Given the description of an element on the screen output the (x, y) to click on. 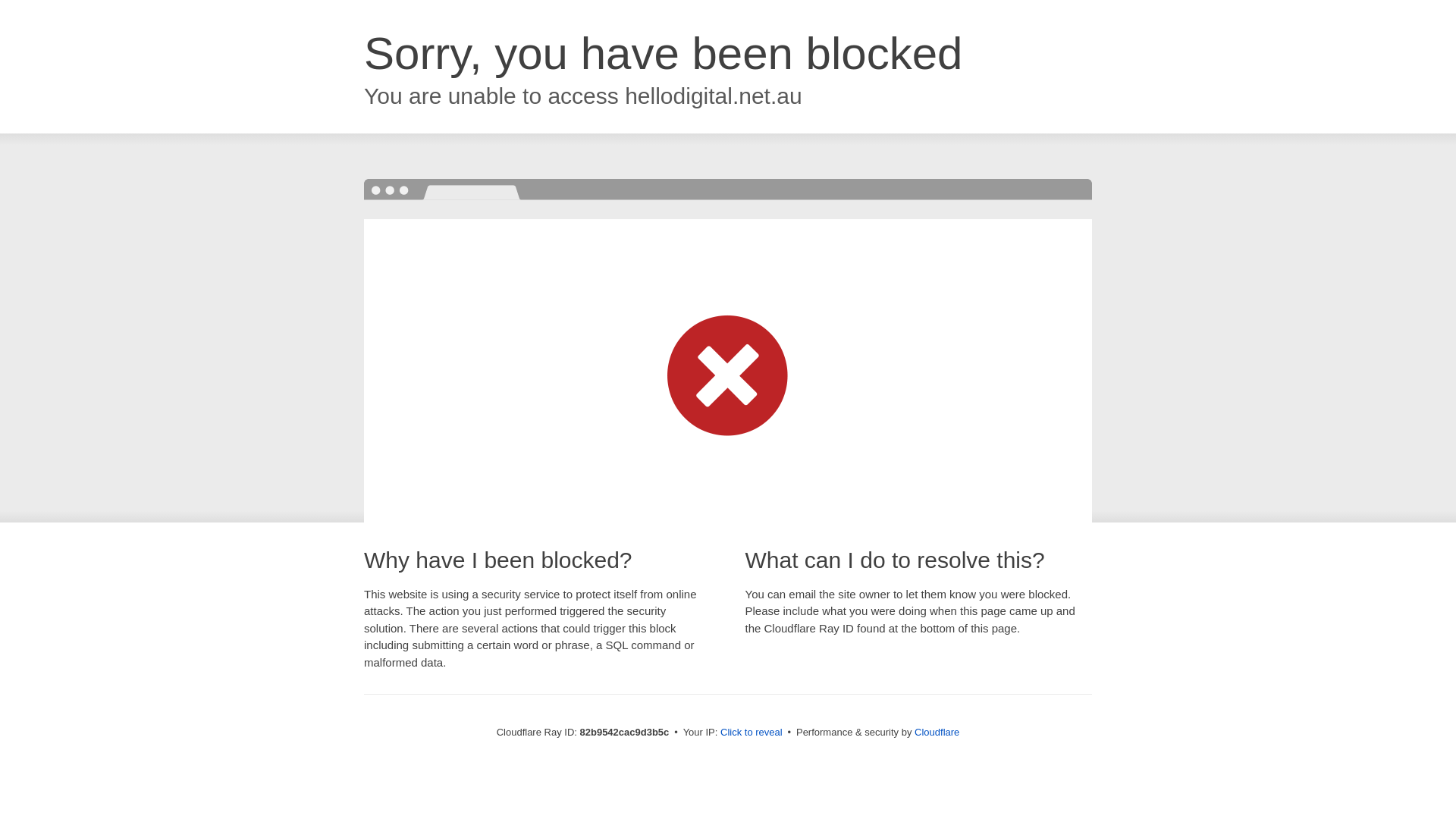
Click to reveal Element type: text (751, 732)
Cloudflare Element type: text (936, 731)
